Given the description of an element on the screen output the (x, y) to click on. 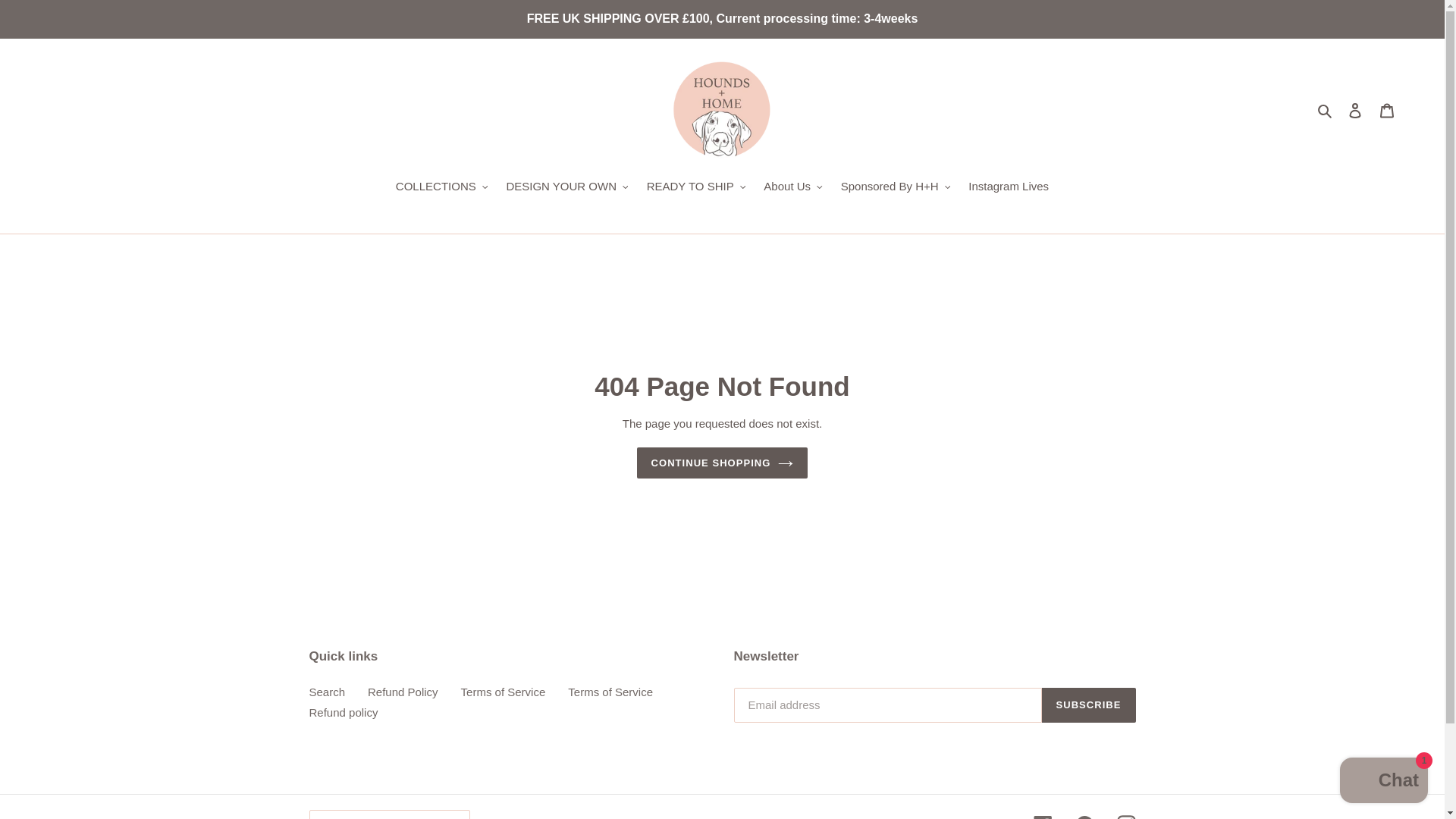
Log in (1355, 110)
Search (1326, 109)
Shopify online store chat (1383, 781)
Cart (1387, 110)
